Given the description of an element on the screen output the (x, y) to click on. 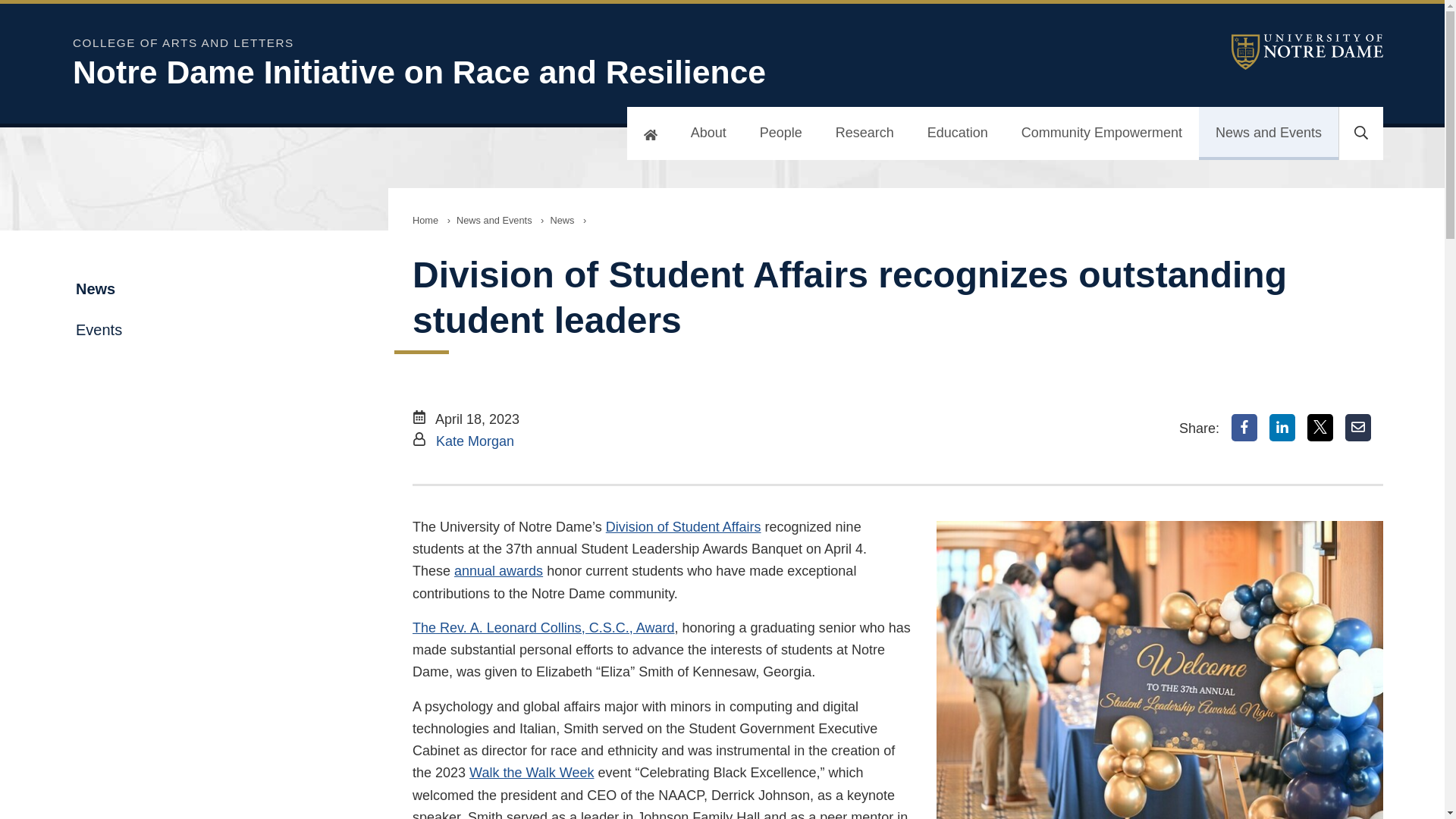
Home (425, 220)
Facebook (1244, 427)
Kate Morgan (474, 441)
LinkedIn (1282, 427)
About (708, 133)
Notre Dame Initiative on Race and Resilience (466, 72)
Email (1358, 427)
Division of Student Affairs (683, 526)
University of Notre Dame (1307, 51)
The Rev. A. Leonard Collins, C.S.C., Award (543, 627)
Research (864, 133)
Community Empowerment (1101, 133)
News and Events (1268, 133)
Education (957, 133)
annual awards (498, 570)
